Given the description of an element on the screen output the (x, y) to click on. 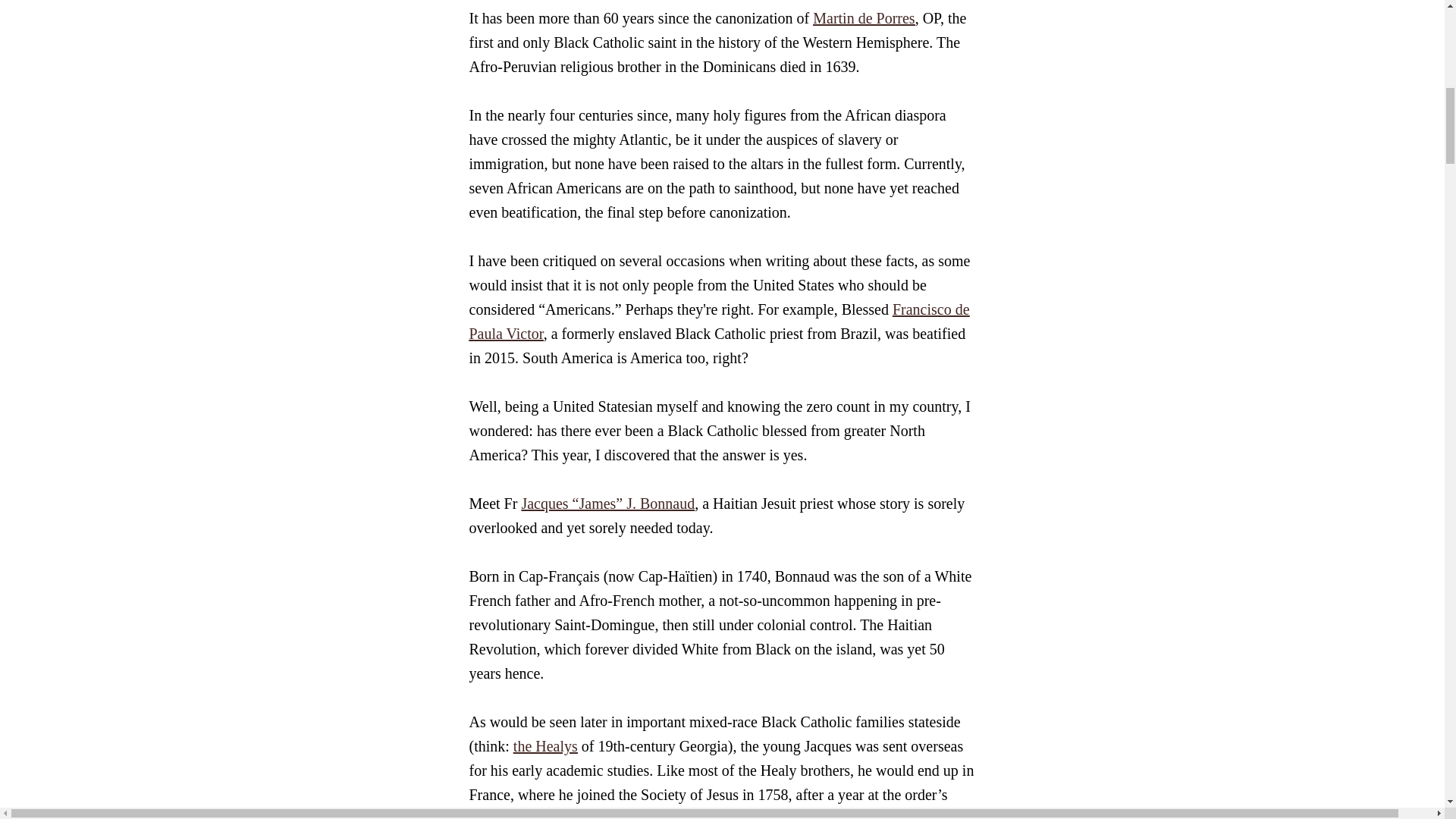
Martin de Porres (863, 17)
the Healys (545, 745)
Francisco de Paula Victor (718, 321)
